Given the description of an element on the screen output the (x, y) to click on. 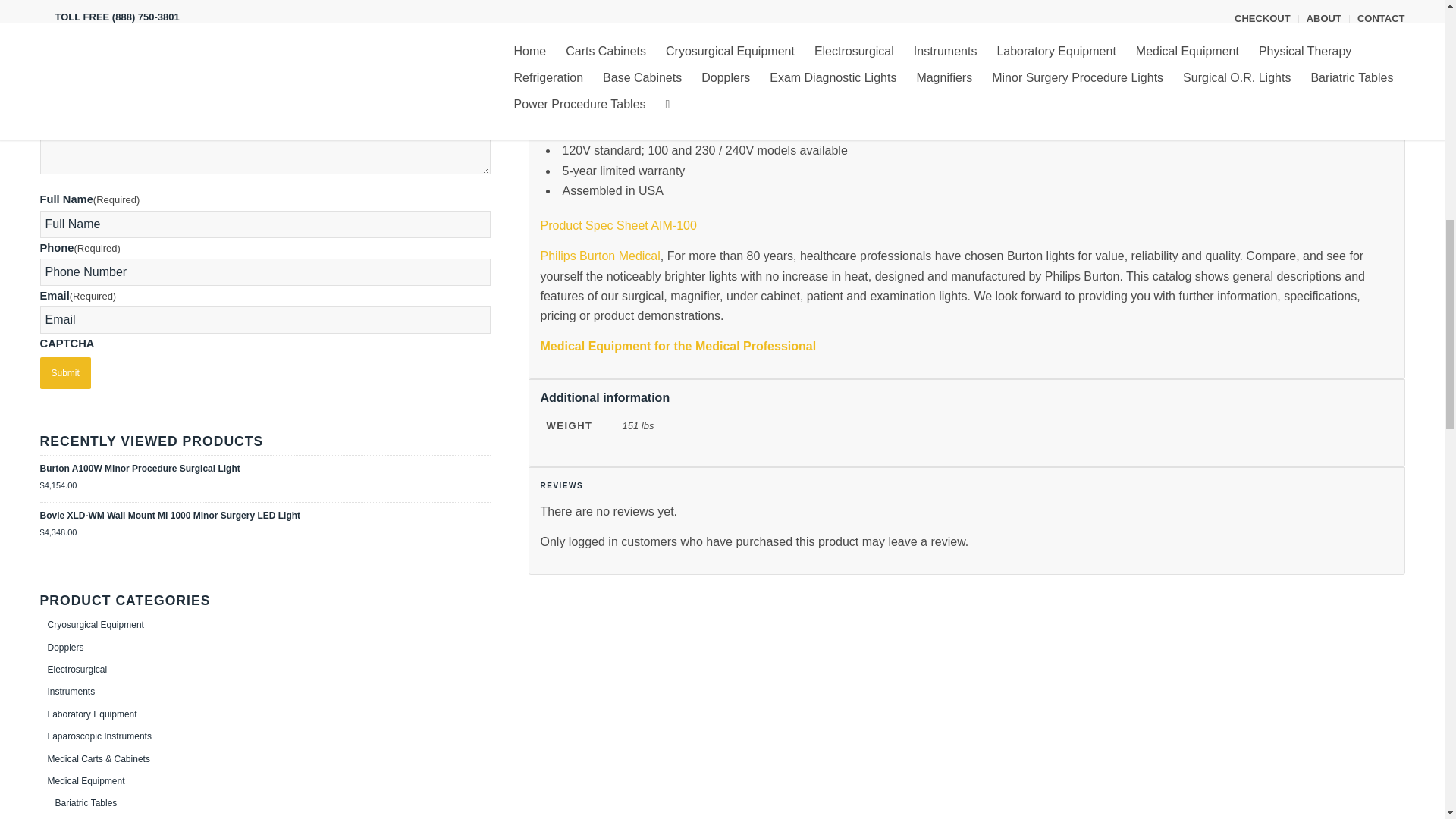
Submit (64, 373)
